Given the description of an element on the screen output the (x, y) to click on. 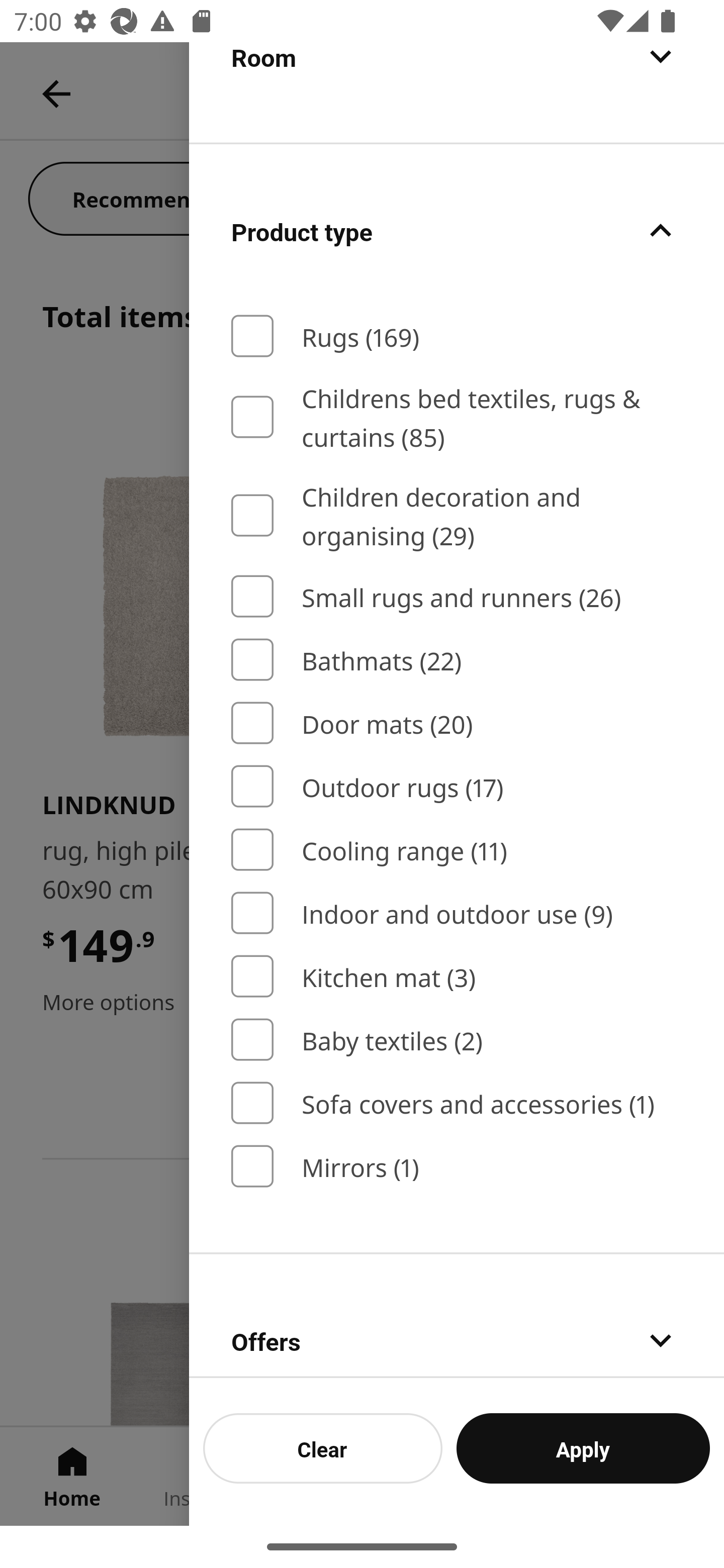
Room (456, 91)
Product type (456, 230)
Rugs (169) (456, 336)
Childrens bed textiles, rugs & curtains (85) (456, 416)
Children decoration and organising (29) (456, 515)
Small rugs and runners (26) (456, 596)
Bathmats (22) (456, 659)
Door mats (20) (456, 723)
Outdoor rugs (17) (456, 786)
Cooling range (11) (456, 849)
Indoor and outdoor use (9) (456, 913)
Kitchen mat (3) (456, 975)
Baby textiles (2) (456, 1040)
Sofa covers and accessories (1) (456, 1102)
Mirrors (1) (456, 1165)
Offers (456, 1315)
Clear (322, 1447)
Apply (583, 1447)
